Given the description of an element on the screen output the (x, y) to click on. 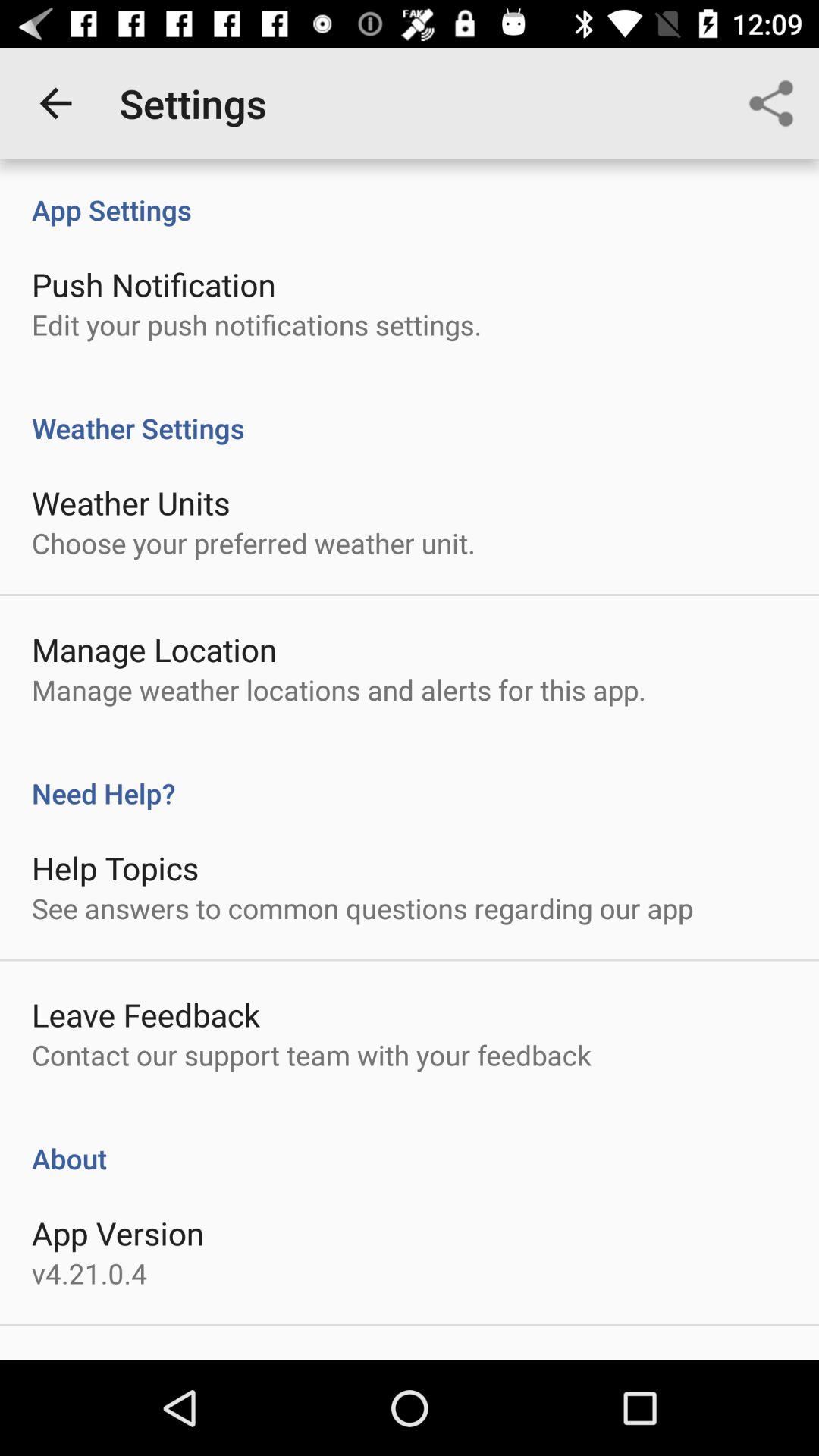
turn off item above v4 21 0 (117, 1232)
